Given the description of an element on the screen output the (x, y) to click on. 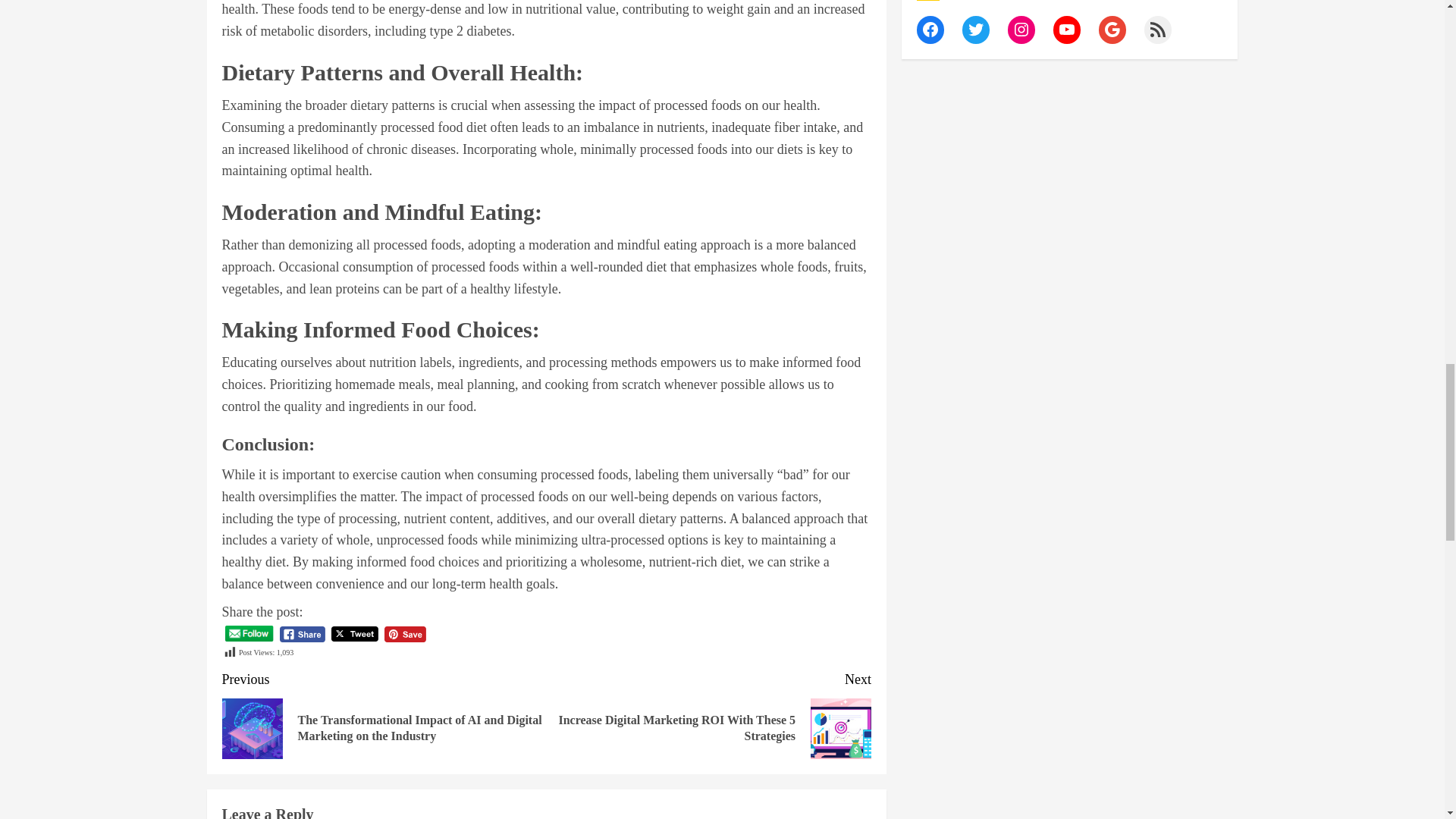
Facebook Share (302, 634)
Pin Share (405, 634)
Tweet (354, 634)
